Given the description of an element on the screen output the (x, y) to click on. 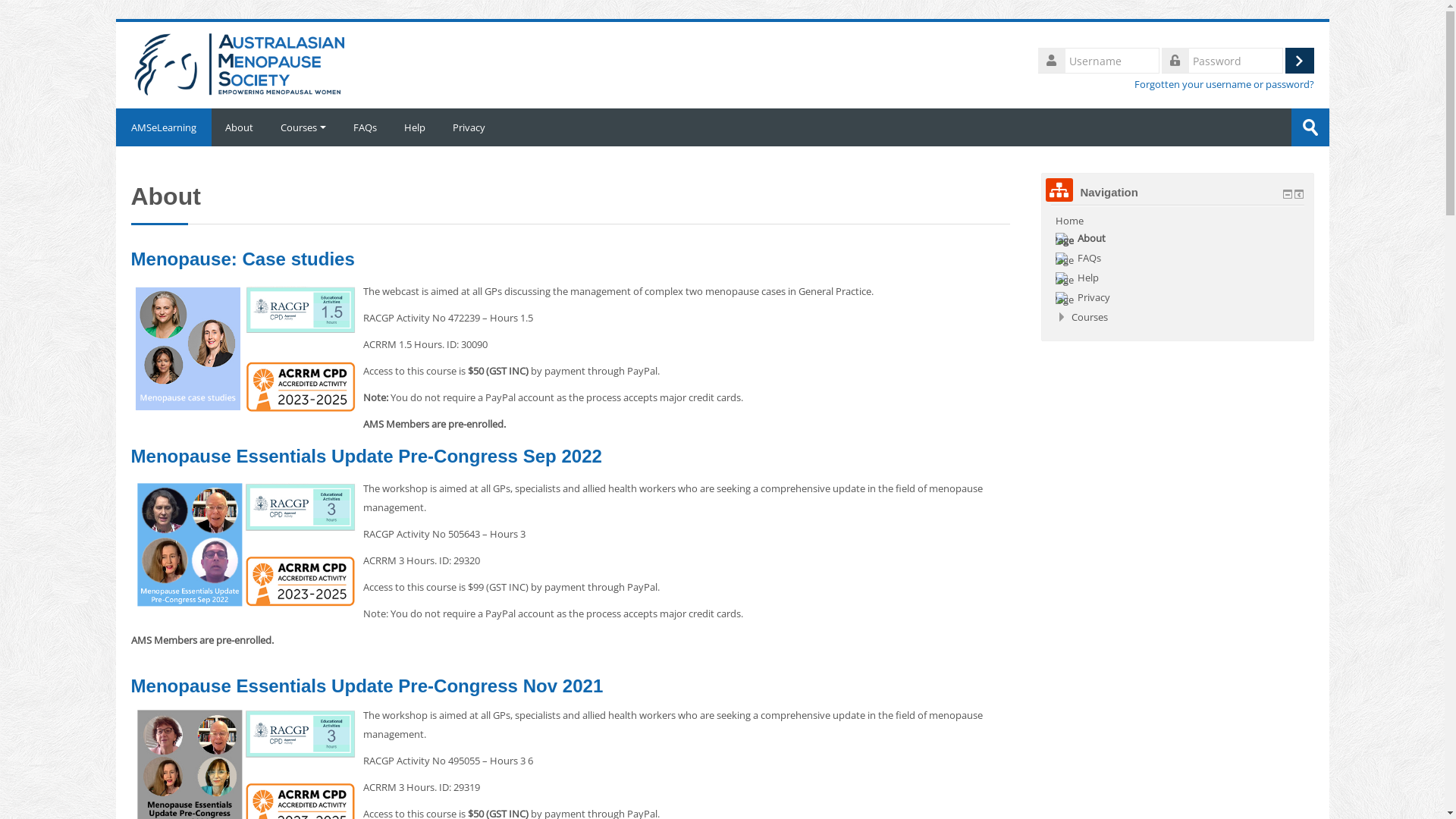
Home Element type: text (1069, 220)
Page Element type: hover (1064, 279)
AMSeLearning Element type: text (162, 127)
Submit Element type: text (1309, 127)
Hide Navigation block Element type: hover (1287, 193)
Help Element type: text (1076, 277)
Help Element type: text (413, 127)
Forgotten your username or password? Element type: text (1224, 84)
Menopause Essentials Update Pre-Congress Nov 2021 Element type: text (366, 685)
Page Element type: hover (1064, 259)
FAQs Element type: text (1078, 257)
FAQs Element type: text (364, 127)
Dock Navigation block Element type: hover (1297, 193)
Courses Element type: text (302, 127)
Menopause Essentials Update Pre-Congress Sep 2022 Element type: text (365, 455)
Home Element type: hover (241, 63)
Page Element type: hover (1064, 239)
About Element type: text (1080, 237)
Courses Element type: text (1088, 316)
Privacy Element type: text (1082, 297)
Privacy Element type: text (468, 127)
About Element type: text (238, 127)
Page Element type: hover (1064, 299)
Menopause: Case studies Element type: text (242, 258)
Log in Element type: text (1298, 60)
